Given the description of an element on the screen output the (x, y) to click on. 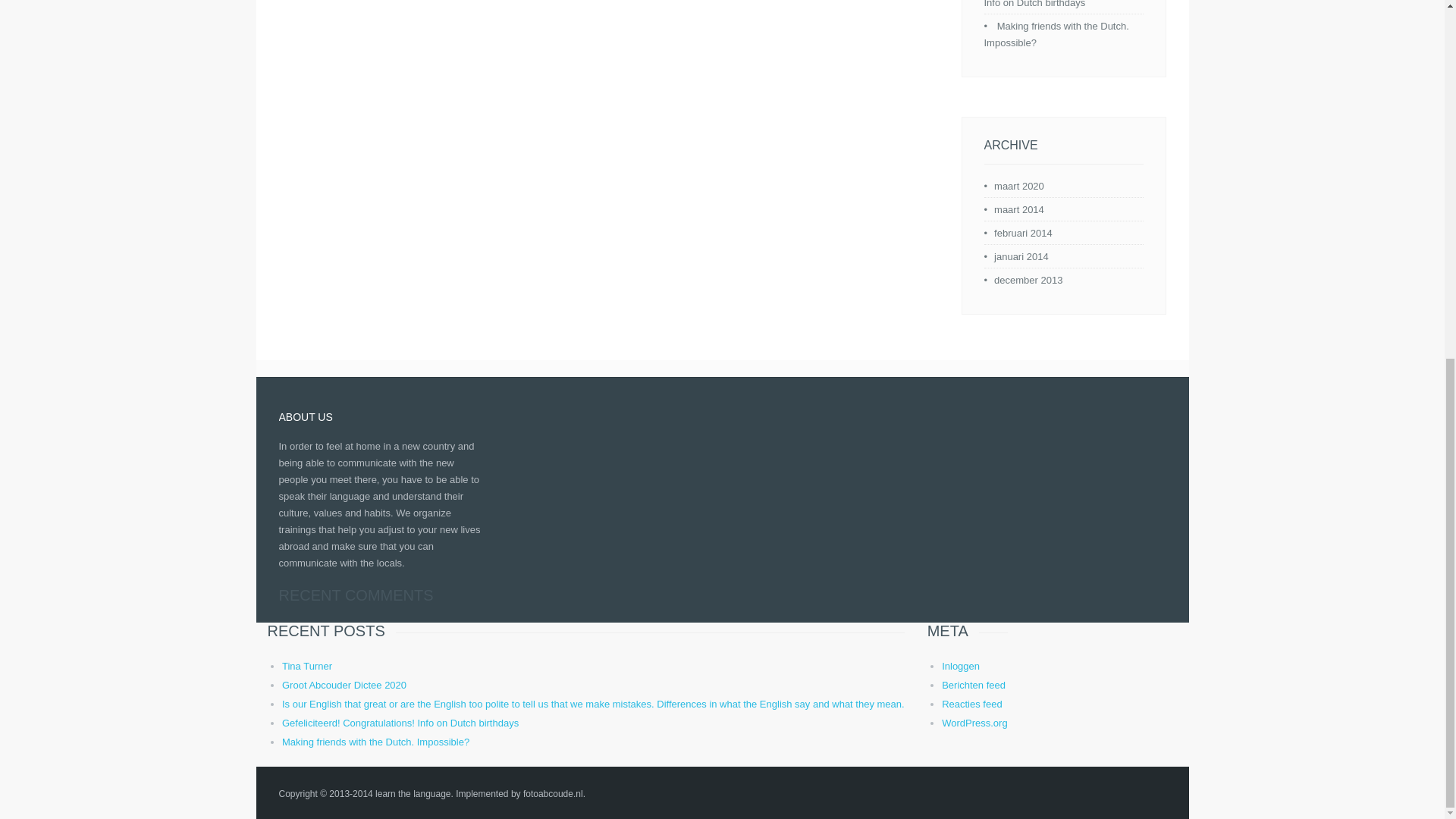
fotoabcoude.nl (552, 793)
learn the language. (413, 793)
Inloggen (960, 665)
Making friends with the Dutch. Impossible? (1056, 34)
maart 2014 (1018, 209)
Making friends with the Dutch. Impossible? (375, 741)
Groot Abcouder Dictee 2020 (344, 685)
Tina Turner (306, 665)
december 2013 (1028, 279)
maart 2020 (1018, 185)
WordPress.org (974, 722)
februari 2014 (1023, 233)
januari 2014 (1021, 256)
Berichten feed (974, 685)
Gefeliciteerd! Congratulations! Info on Dutch birthdays (1056, 4)
